Given the description of an element on the screen output the (x, y) to click on. 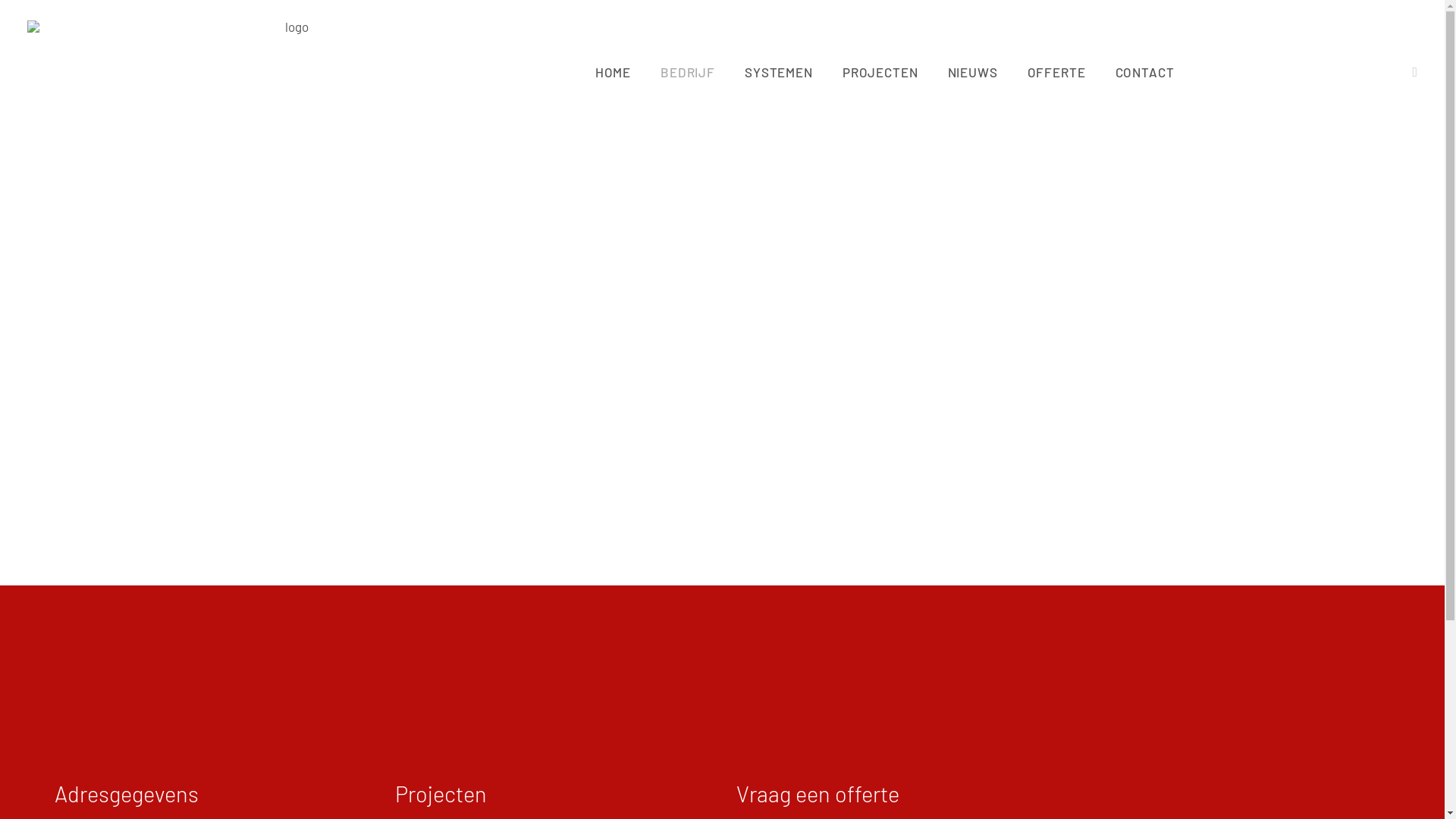
PROJECTEN Element type: text (879, 72)
SYSTEMEN Element type: text (778, 72)
BEDRIJF Element type: text (687, 72)
HOME Element type: text (612, 72)
OFFERTE Element type: text (1056, 72)
NIEUWS Element type: text (972, 72)
CONTACT Element type: text (1137, 72)
